Given the description of an element on the screen output the (x, y) to click on. 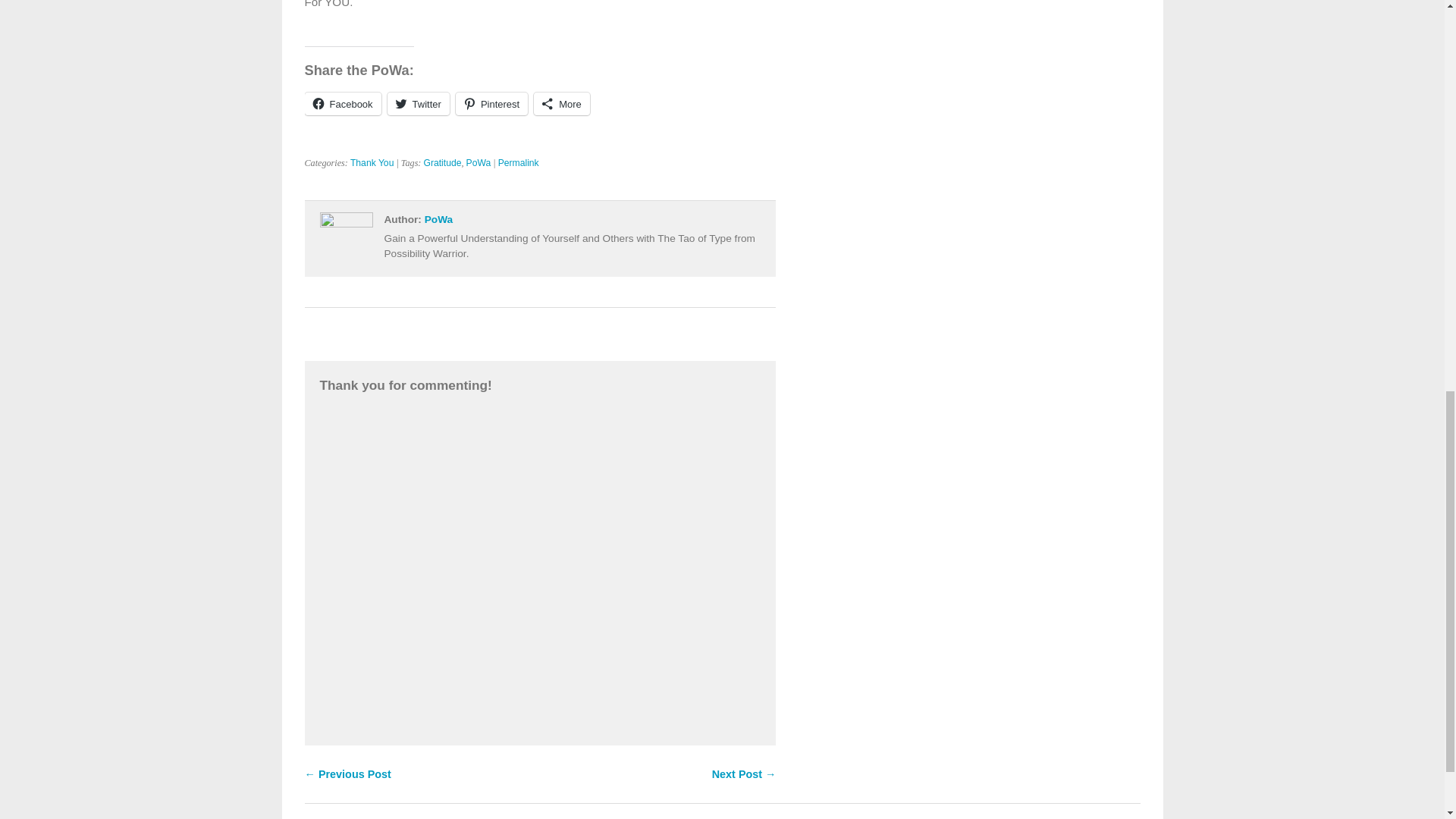
Facebook (342, 103)
Click to share on Twitter (418, 103)
Sign up! (1350, 191)
Click to share on Pinterest (491, 103)
PoWa (438, 219)
Twitter (418, 103)
Click to share on Facebook (342, 103)
